Given the description of an element on the screen output the (x, y) to click on. 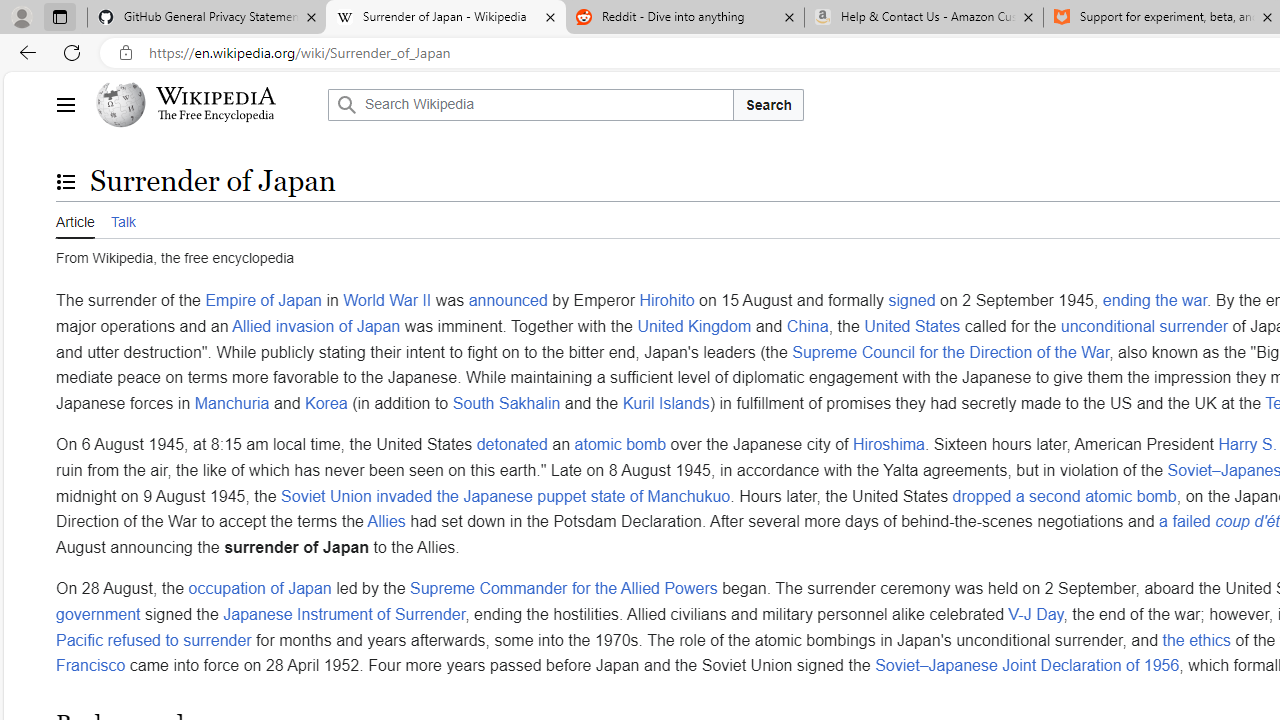
Supreme Council for the Direction of the War (950, 351)
Talk (122, 219)
refused to surrender (179, 639)
World War II (387, 301)
Article (75, 219)
announced (507, 301)
ending the war (1154, 301)
Search Wikipedia (530, 104)
Wikipedia The Free Encyclopedia (206, 104)
Korea (326, 402)
Help & Contact Us - Amazon Customer Service - Sleeping (924, 17)
GitHub General Privacy Statement - GitHub Docs (207, 17)
Toggle the table of contents (65, 181)
United States (912, 325)
